Given the description of an element on the screen output the (x, y) to click on. 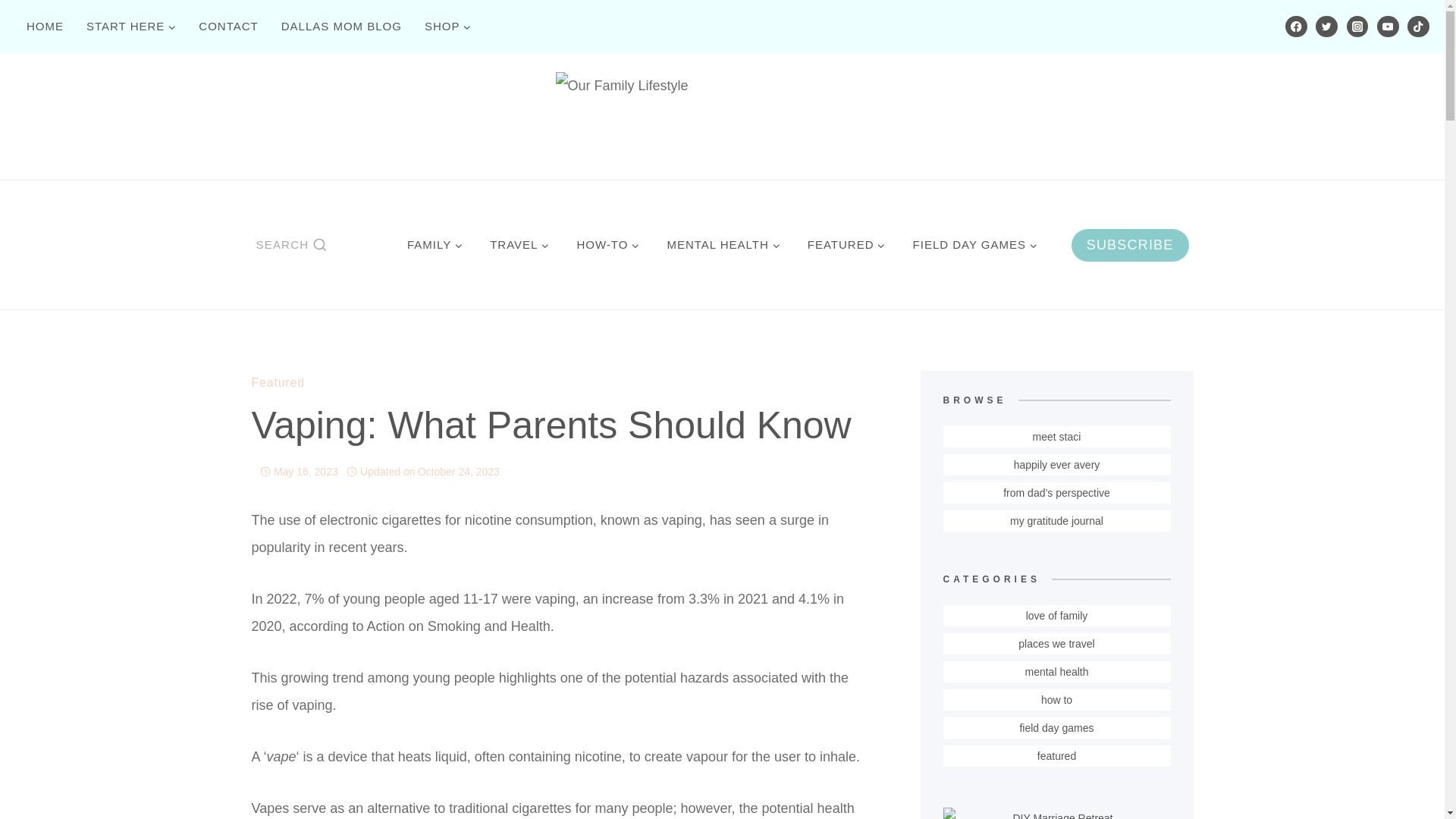
HOW-TO (607, 244)
TRAVEL (519, 244)
HOME (44, 26)
SEARCH (291, 244)
SHOP (448, 26)
CONTACT (228, 26)
FAMILY (434, 244)
DALLAS MOM BLOG (341, 26)
START HERE (131, 26)
